Given the description of an element on the screen output the (x, y) to click on. 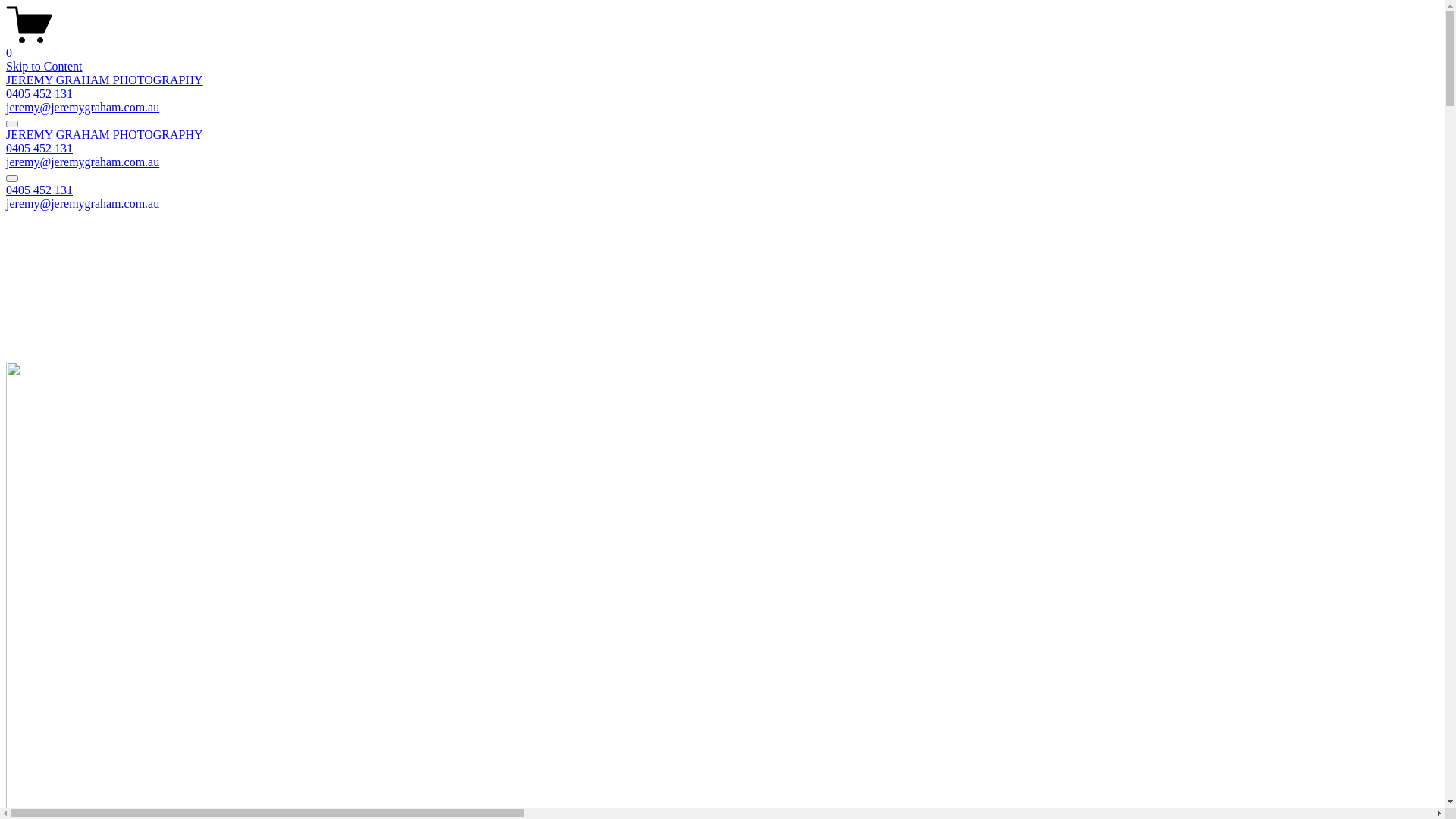
0 Element type: text (722, 45)
0405 452 131 Element type: text (39, 189)
JEREMY GRAHAM PHOTOGRAPHY Element type: text (104, 134)
jeremy@jeremygraham.com.au Element type: text (82, 106)
Skip to Content Element type: text (43, 65)
JEREMY GRAHAM PHOTOGRAPHY Element type: text (104, 79)
0405 452 131 Element type: text (39, 93)
jeremy@jeremygraham.com.au Element type: text (82, 161)
0405 452 131 Element type: text (39, 147)
jeremy@jeremygraham.com.au Element type: text (82, 203)
